Given the description of an element on the screen output the (x, y) to click on. 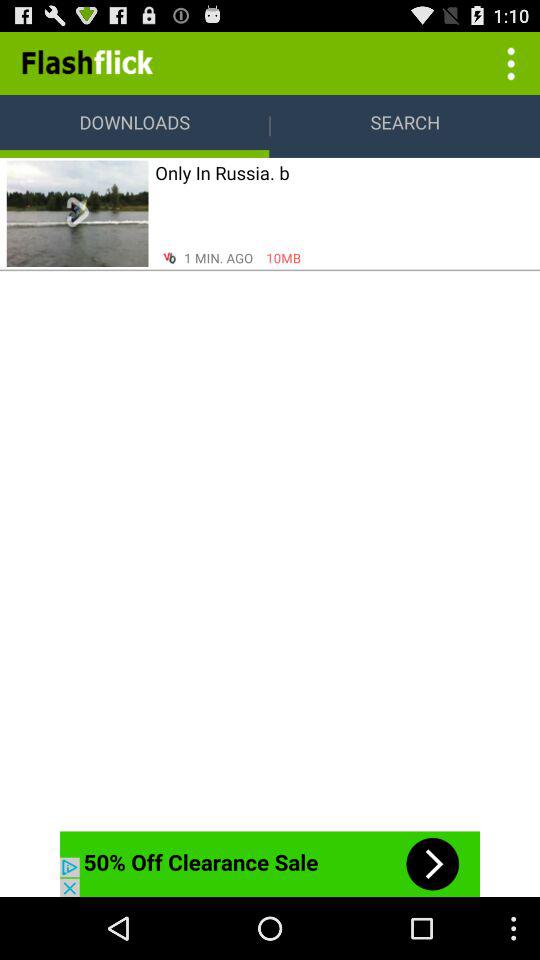
open advertisement (270, 864)
